Given the description of an element on the screen output the (x, y) to click on. 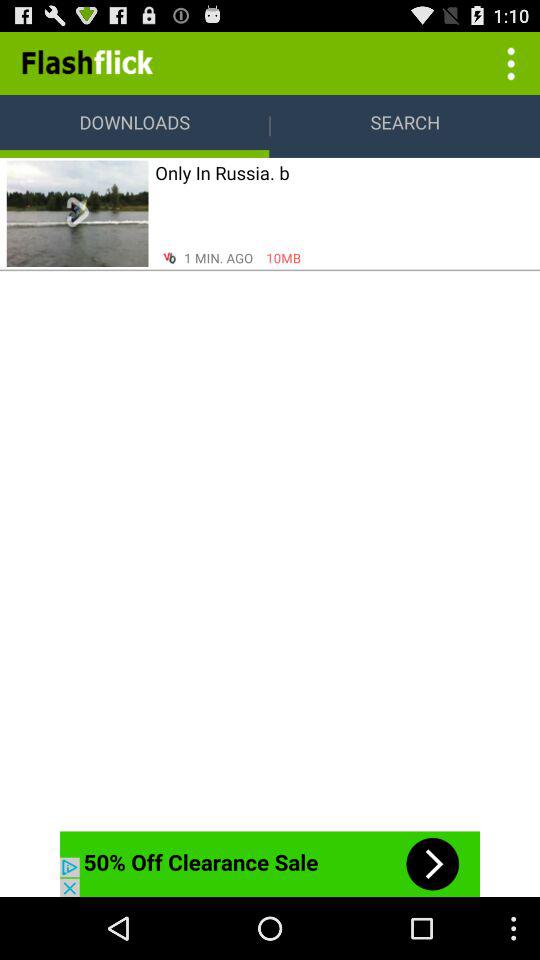
open advertisement (270, 864)
